Given the description of an element on the screen output the (x, y) to click on. 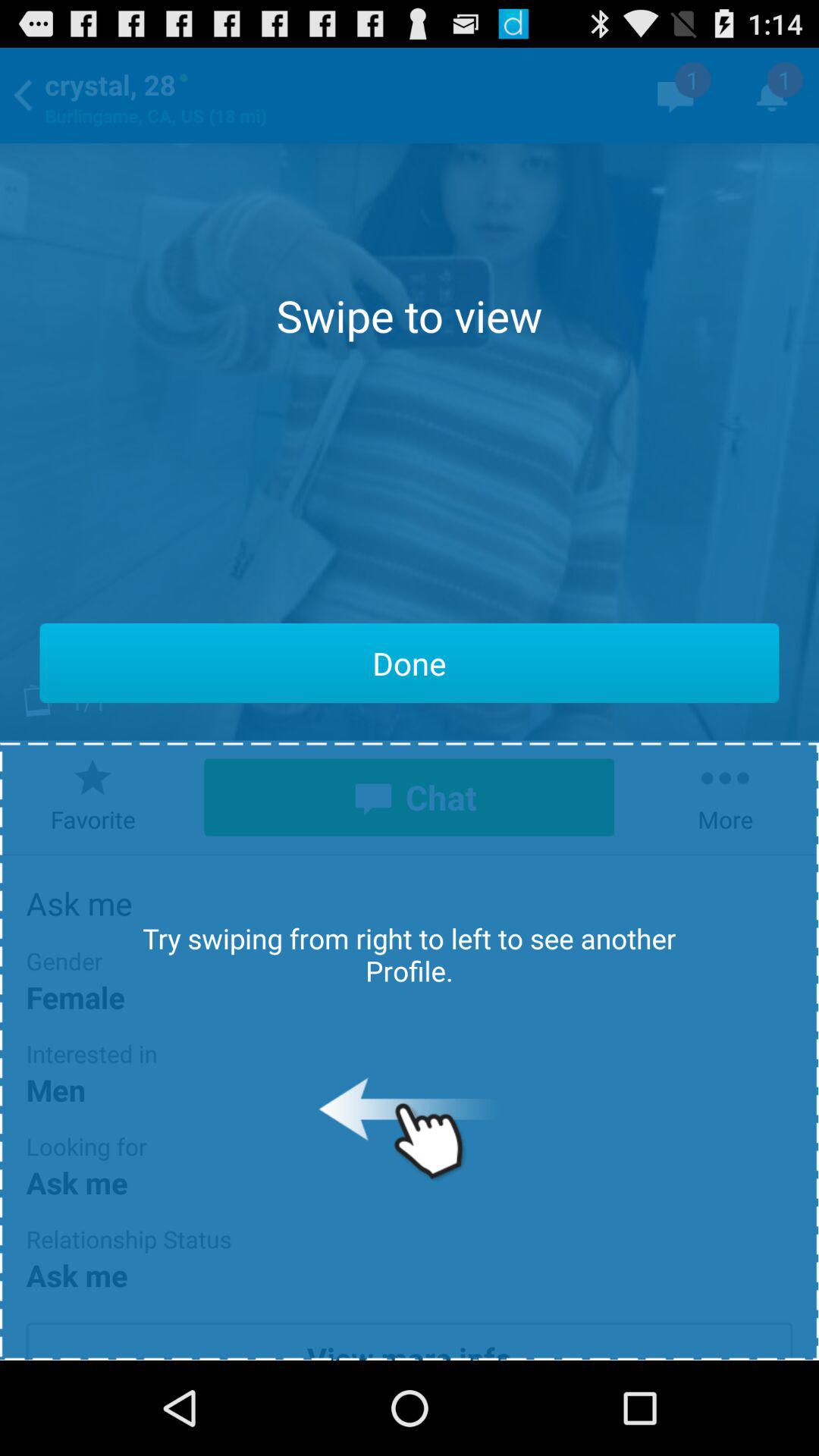
swipe to done button (409, 662)
